Given the description of an element on the screen output the (x, y) to click on. 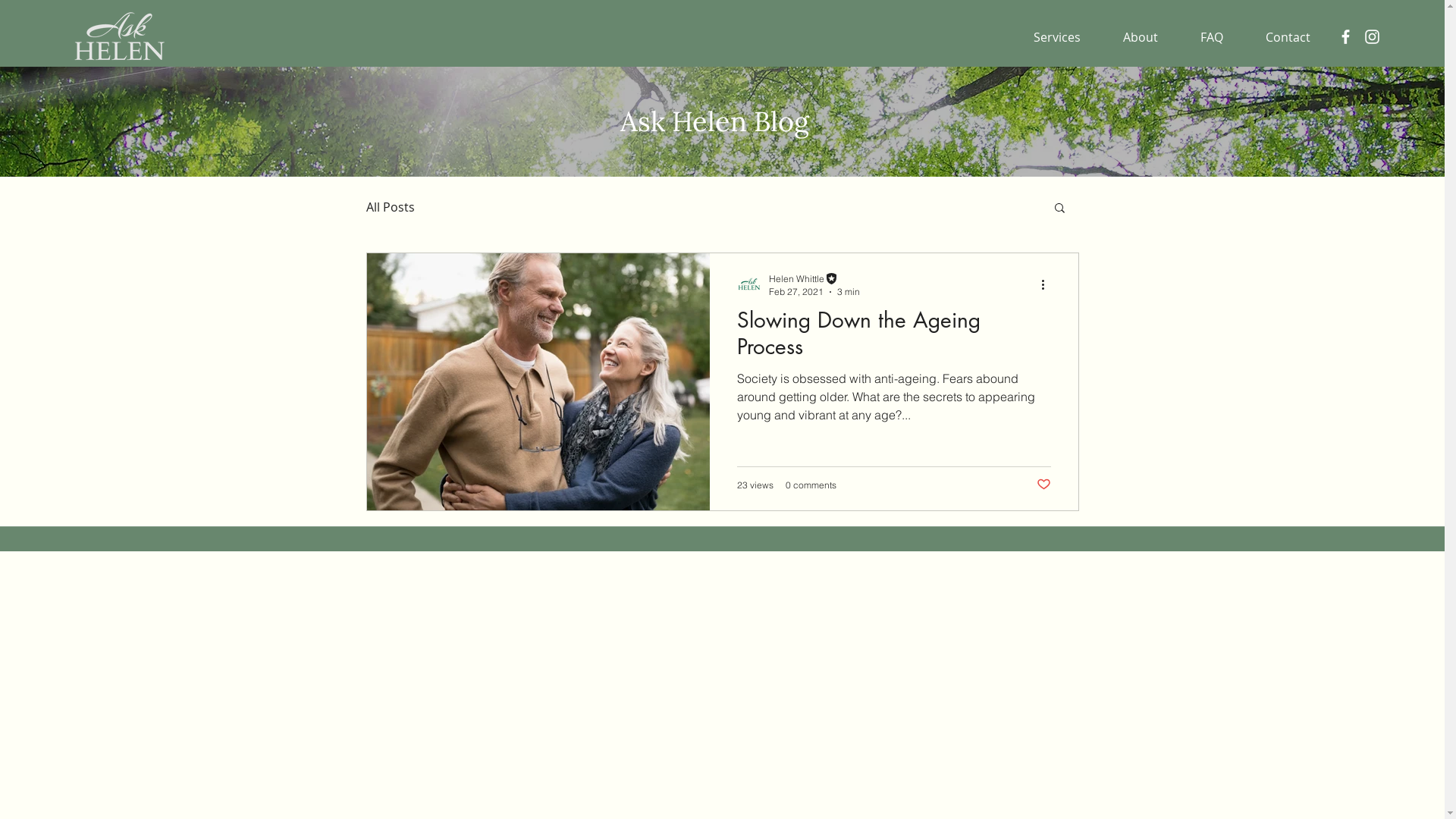
All Posts Element type: text (389, 206)
About Element type: text (1130, 36)
Post not marked as liked Element type: text (1042, 484)
Slowing Down the Ageing Process Element type: text (894, 337)
Contact Element type: text (1277, 36)
Helen Whittle Element type: text (813, 278)
FAQ Element type: text (1201, 36)
0 comments Element type: text (810, 484)
Services Element type: text (1047, 36)
